Given the description of an element on the screen output the (x, y) to click on. 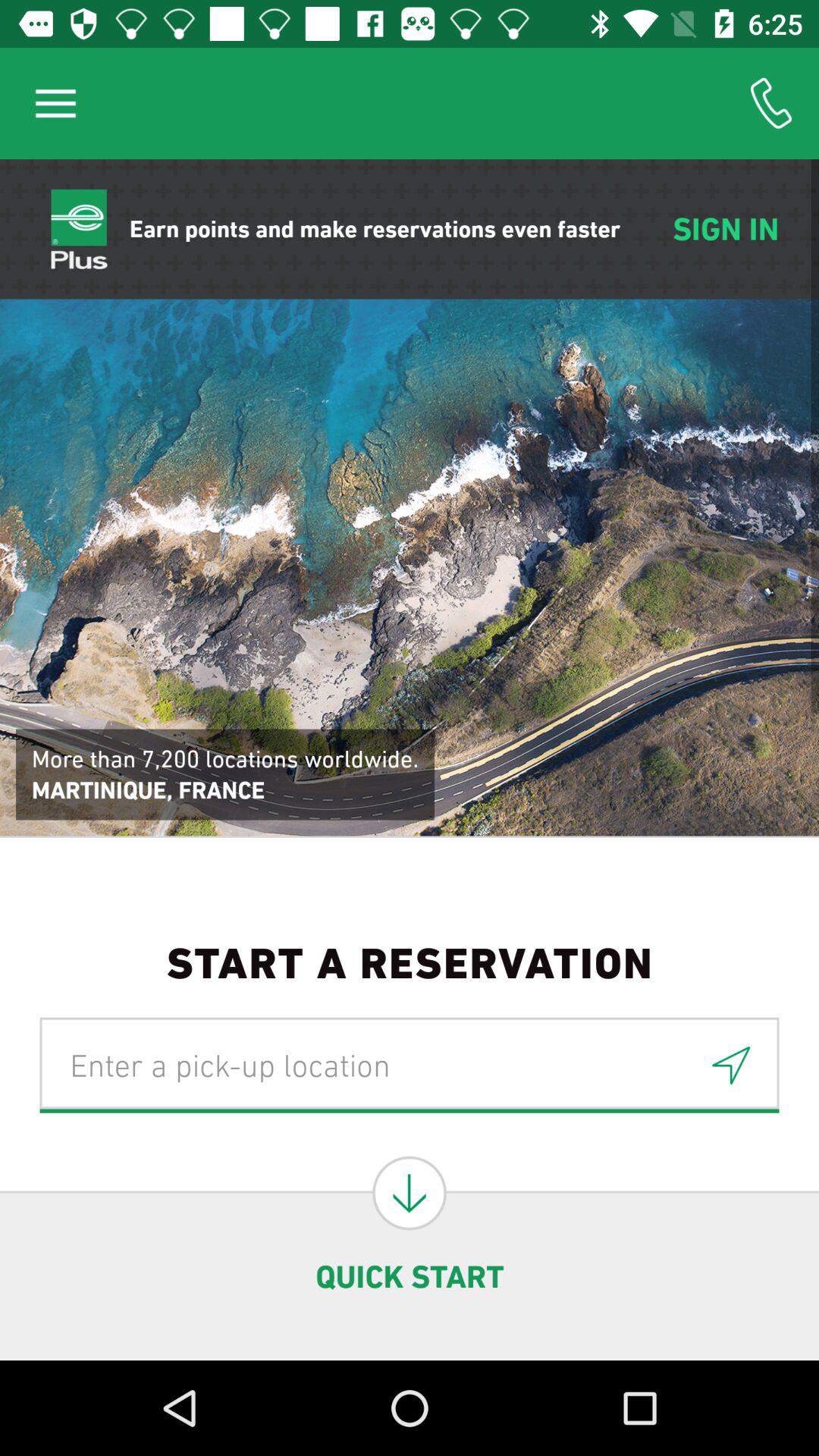
navigate to pick-up location (409, 1065)
